Given the description of an element on the screen output the (x, y) to click on. 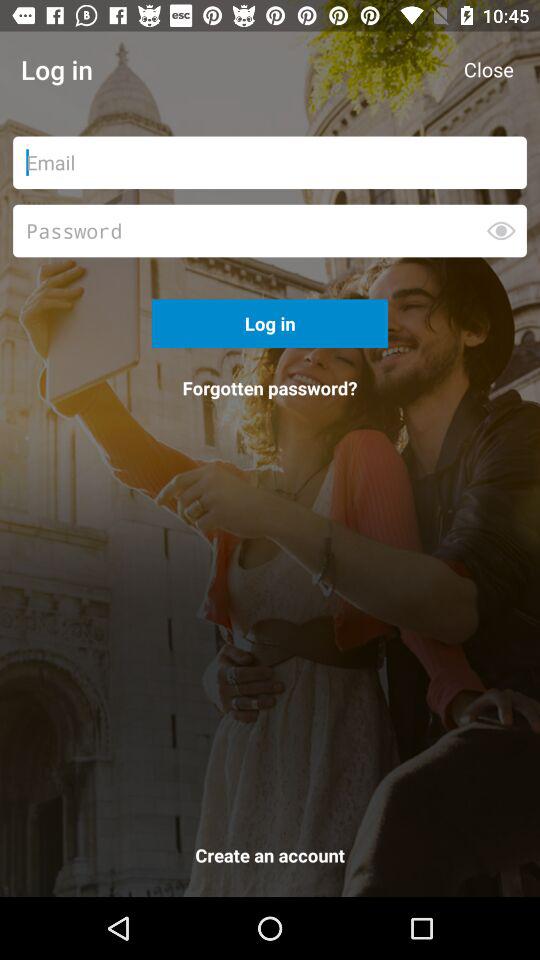
launch the icon above create an account (269, 387)
